Given the description of an element on the screen output the (x, y) to click on. 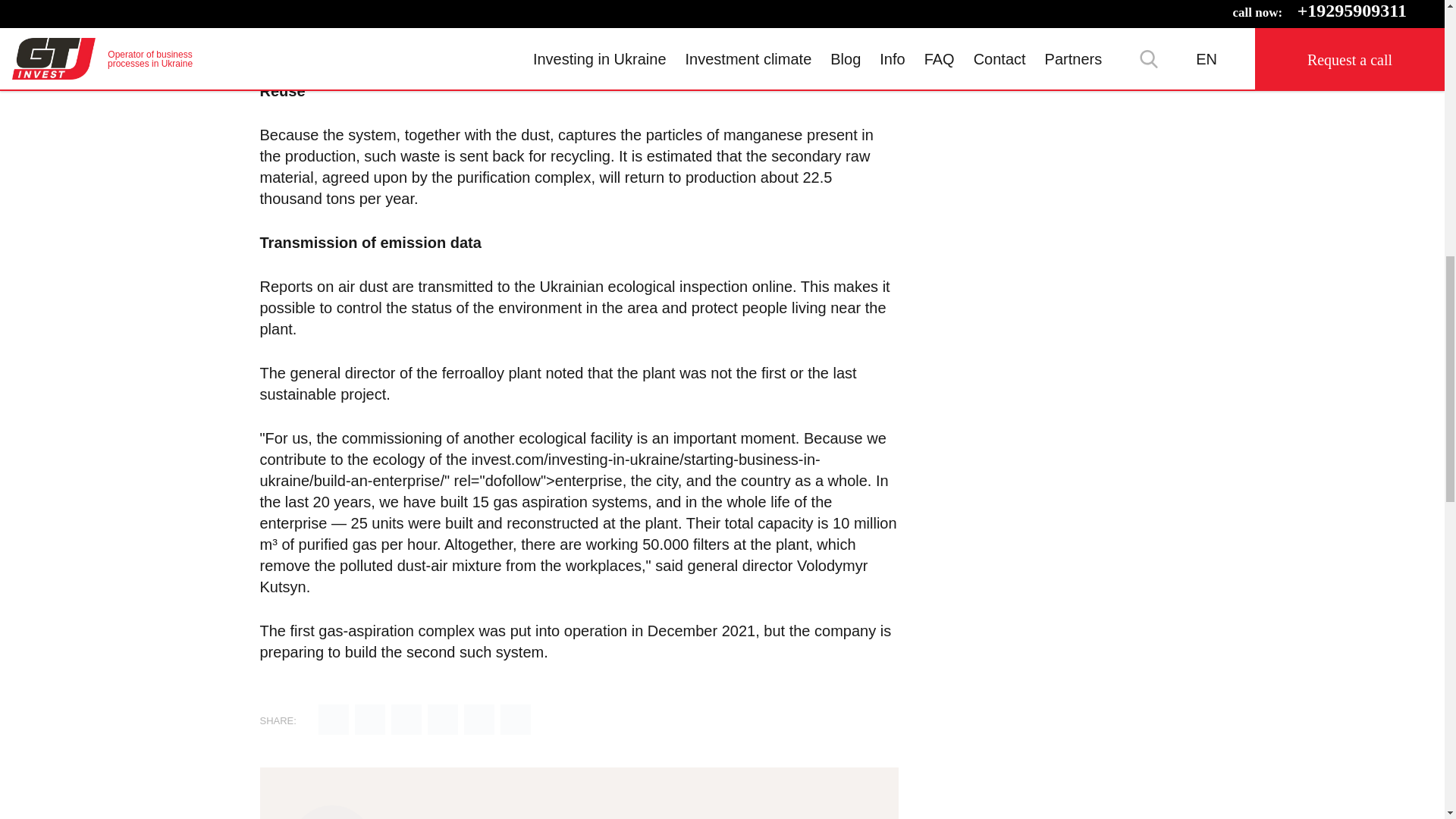
WhatsApp (515, 720)
Telegram (443, 720)
Email (333, 720)
Facebook (406, 720)
Twitter (370, 720)
Viber (479, 720)
